Given the description of an element on the screen output the (x, y) to click on. 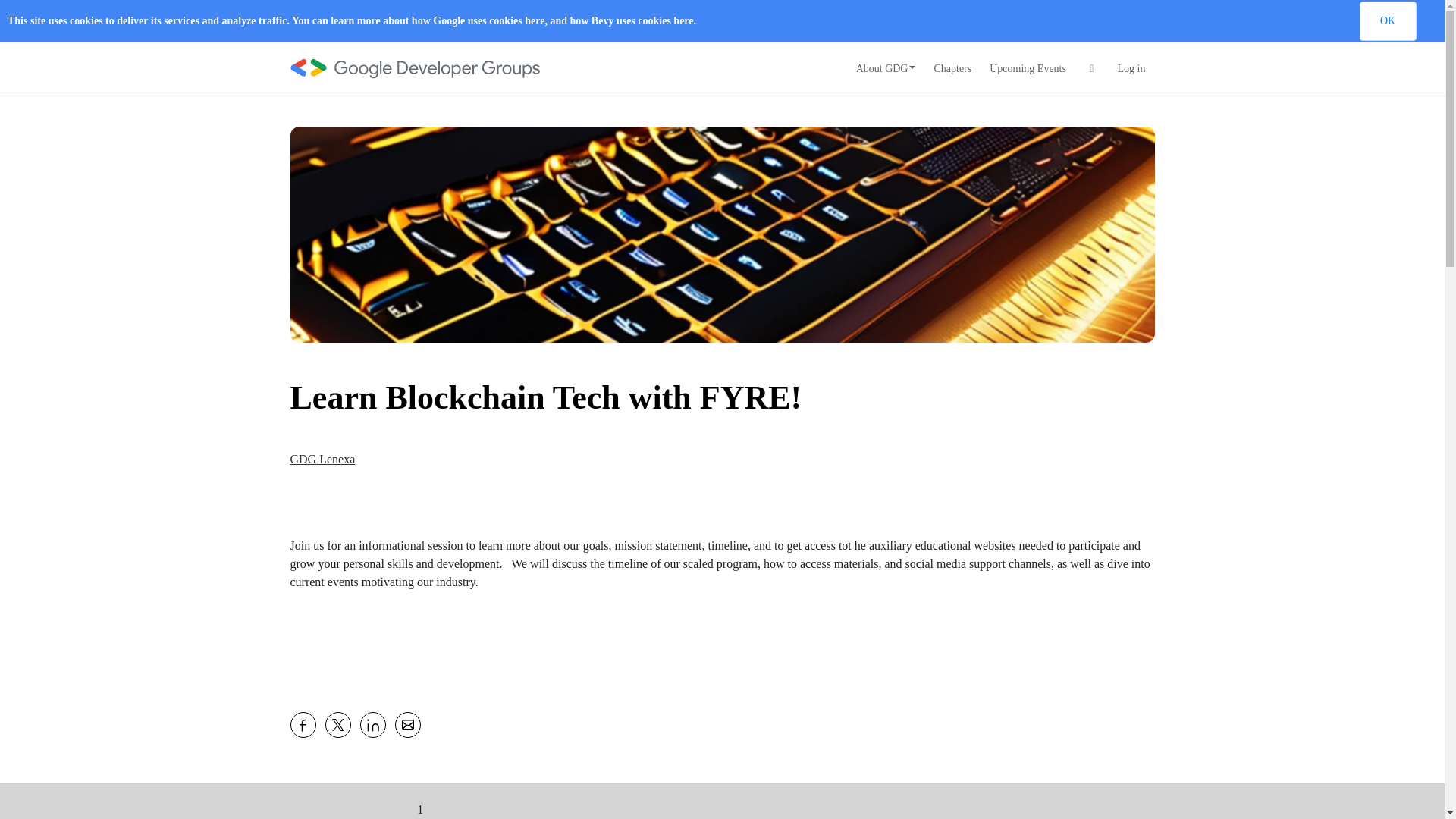
here (534, 20)
Chapters (951, 68)
here (682, 20)
OK (1386, 20)
GDG Lenexa (322, 459)
About GDG (885, 68)
Upcoming Events (1027, 68)
